Given the description of an element on the screen output the (x, y) to click on. 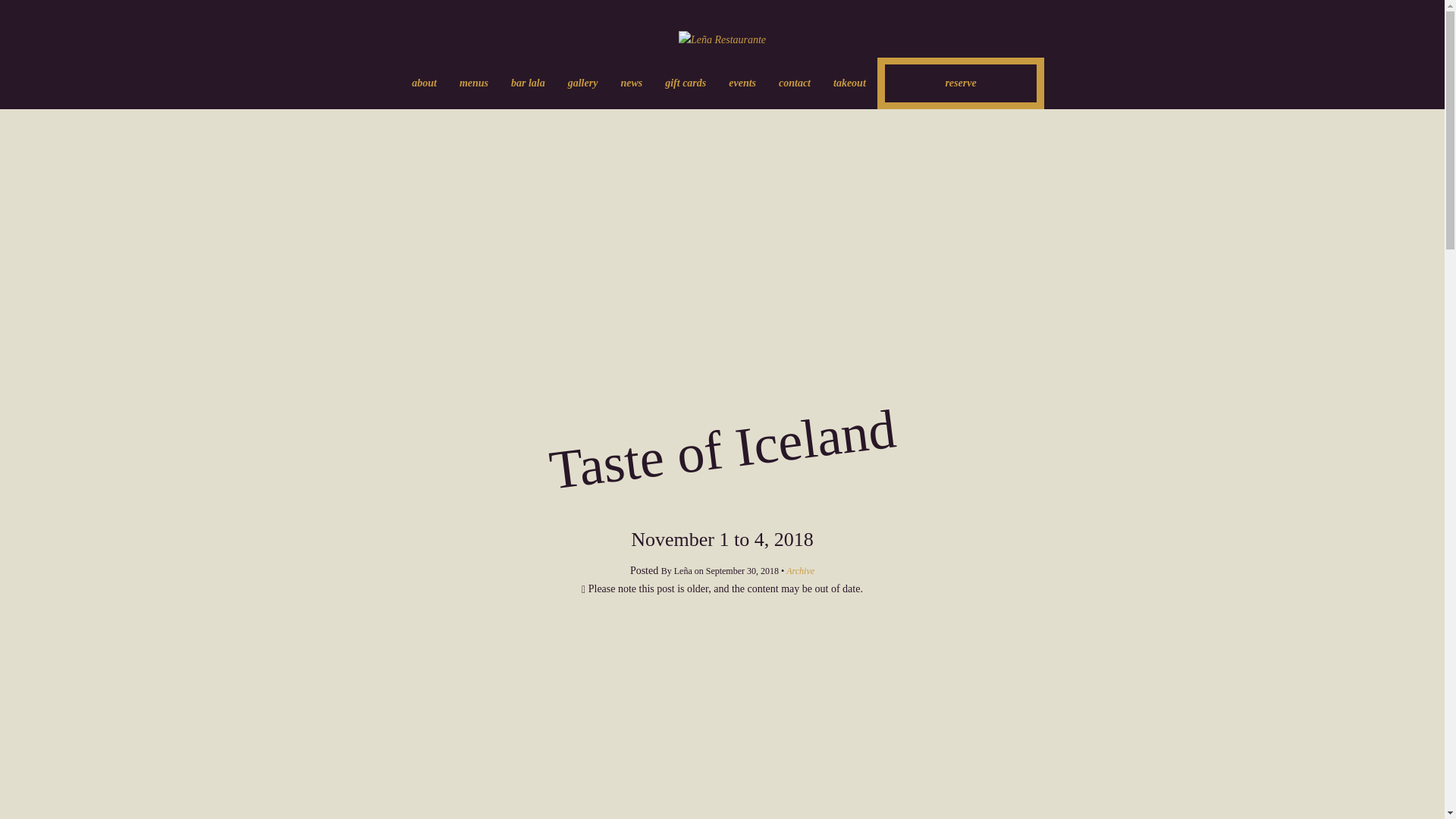
contact (794, 83)
Archive (799, 570)
menus (473, 83)
news (630, 83)
gallery (583, 83)
gift cards (685, 83)
takeout (849, 83)
reserve (960, 82)
events (742, 83)
about (424, 83)
